Given the description of an element on the screen output the (x, y) to click on. 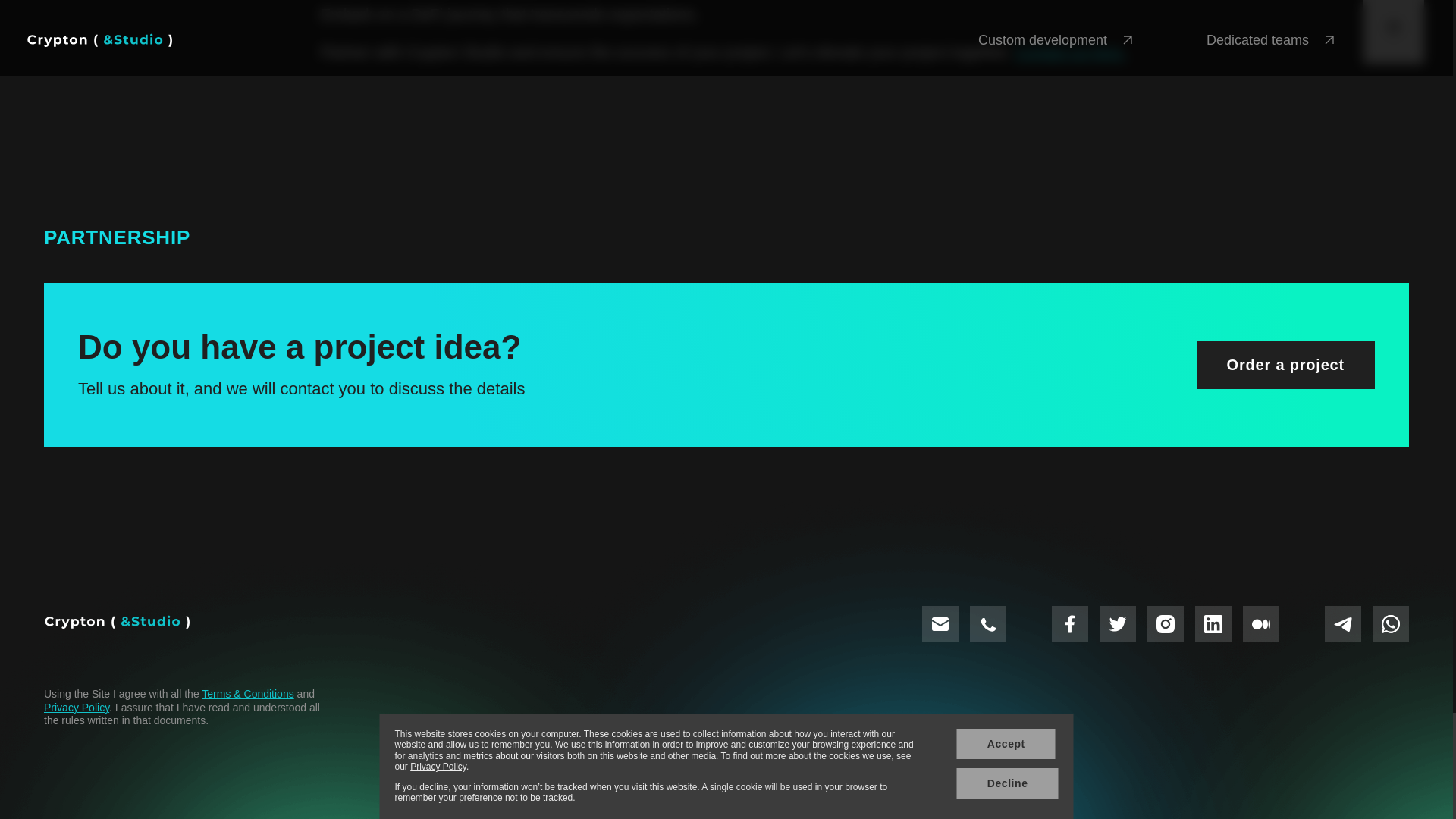
Privacy Policy (76, 707)
Order a project (1285, 365)
Contact us here. (1069, 52)
